Given the description of an element on the screen output the (x, y) to click on. 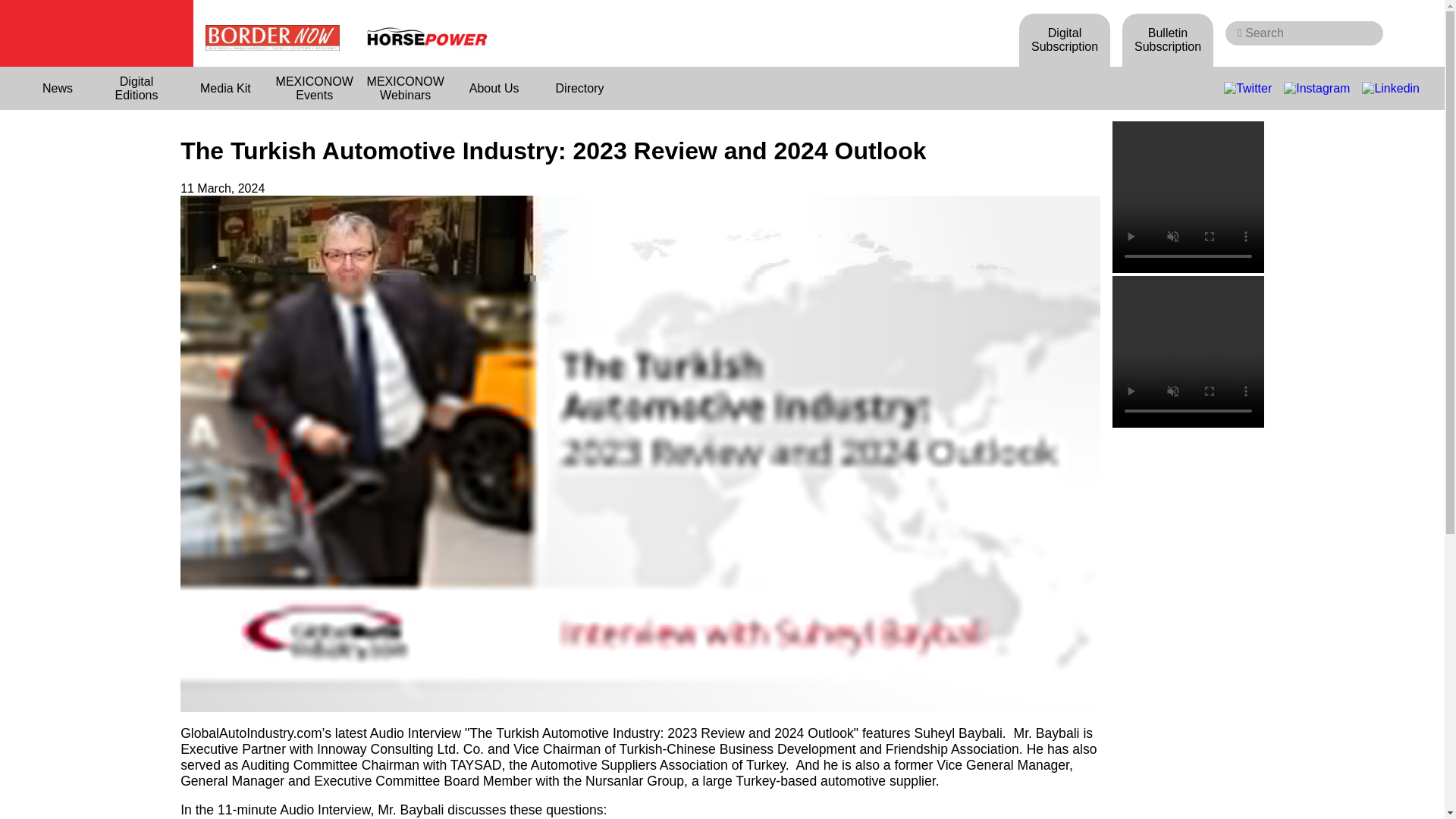
MEXICONOW Webinars (405, 87)
News (57, 87)
Bulletin Subscription (1167, 39)
Digital Subscription (1064, 39)
About Us (494, 87)
Media Kit (225, 87)
Directory (580, 87)
Digital Editions (136, 87)
MEXICONOW Events (314, 87)
